Given the description of an element on the screen output the (x, y) to click on. 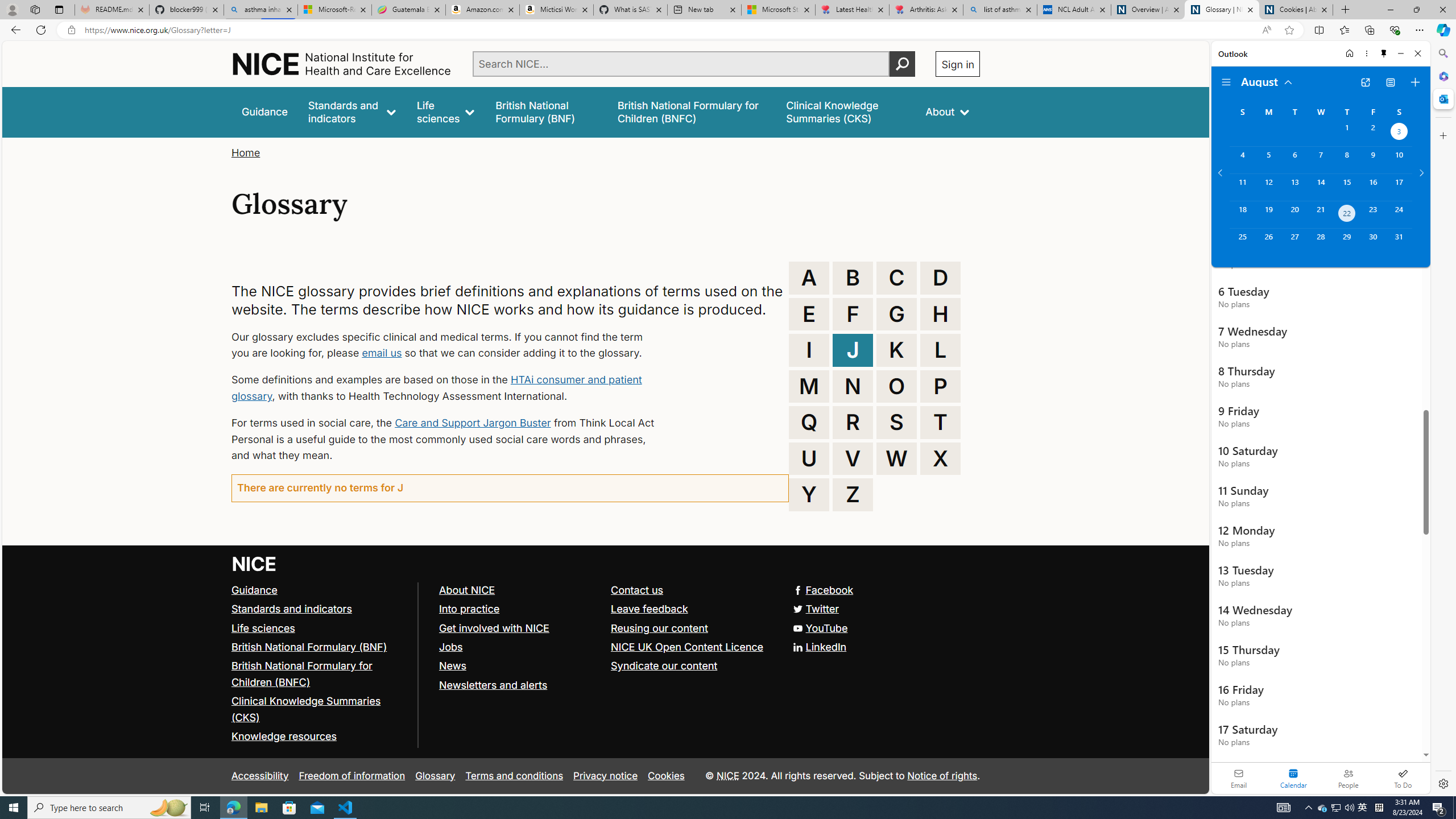
Thursday, August 29, 2024.  (1346, 241)
A (809, 277)
I (809, 350)
YouTube (820, 627)
Contact us (692, 589)
O (896, 385)
Jobs (518, 647)
Q (809, 422)
U (809, 458)
Email (1238, 777)
